Given the description of an element on the screen output the (x, y) to click on. 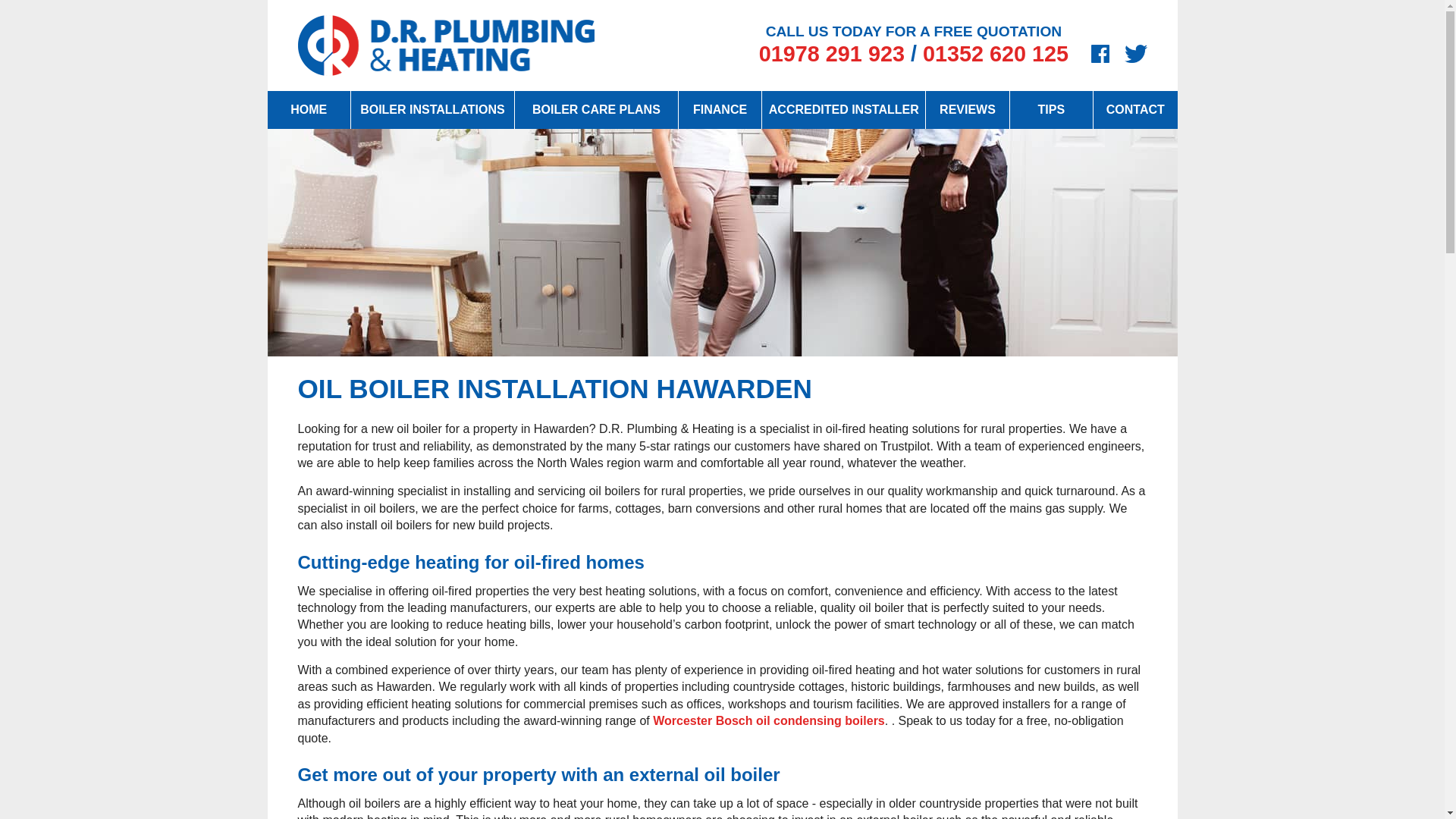
Call us (831, 53)
View homepage (307, 109)
View our boiler installation options (431, 109)
BOILER INSTALLATIONS (431, 109)
ACCREDITED INSTALLER (842, 109)
01352 620 125 (995, 53)
HOME (307, 109)
BOILER CARE PLANS (596, 109)
FINANCE (719, 109)
CONTACT (1134, 109)
REVIEWS (967, 109)
TIPS (1051, 109)
Worcester Bosch oil condensing boilers (768, 720)
01978 291 923 (831, 53)
Call us (995, 53)
